Given the description of an element on the screen output the (x, y) to click on. 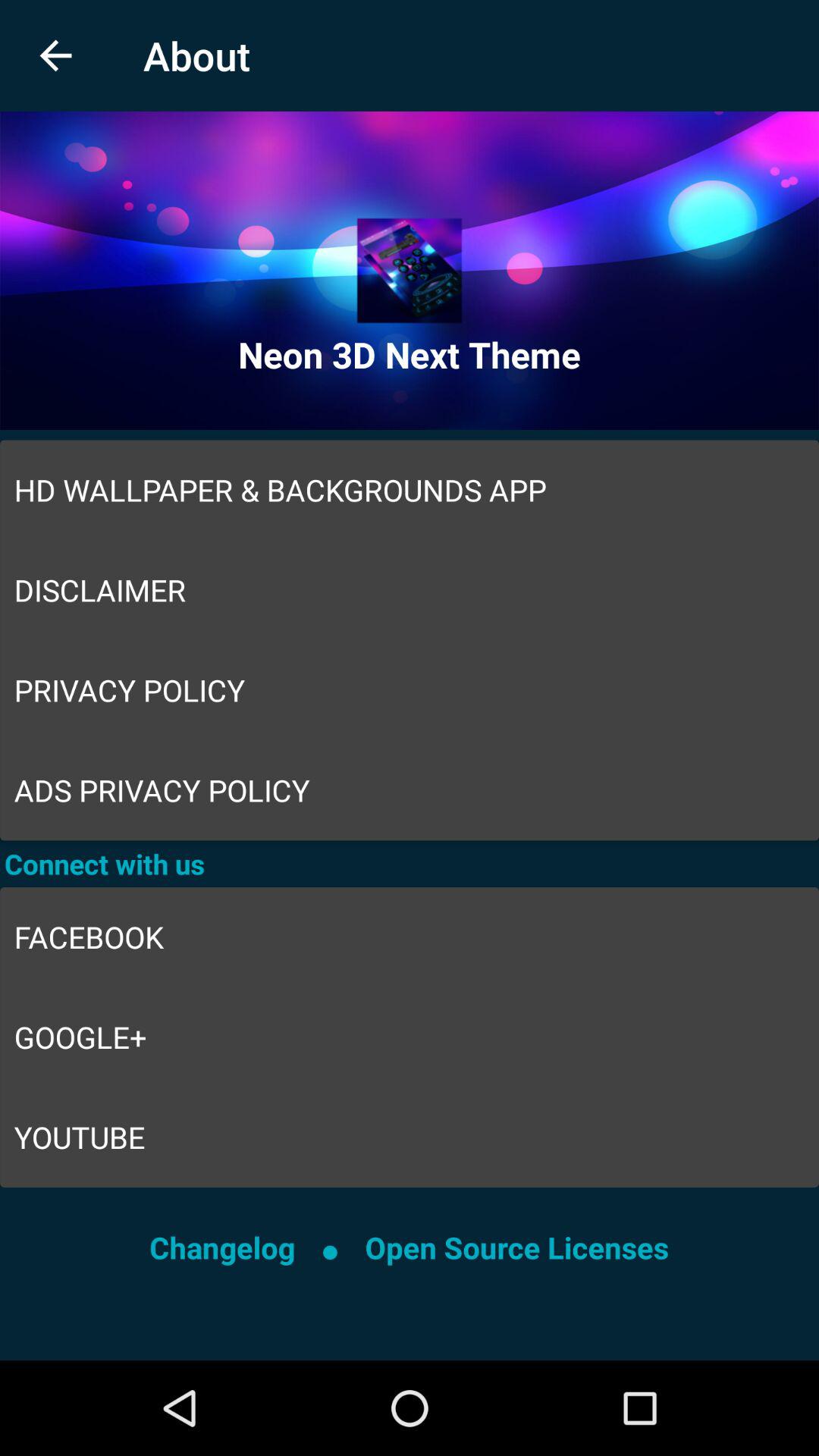
flip until the facebook icon (409, 937)
